Given the description of an element on the screen output the (x, y) to click on. 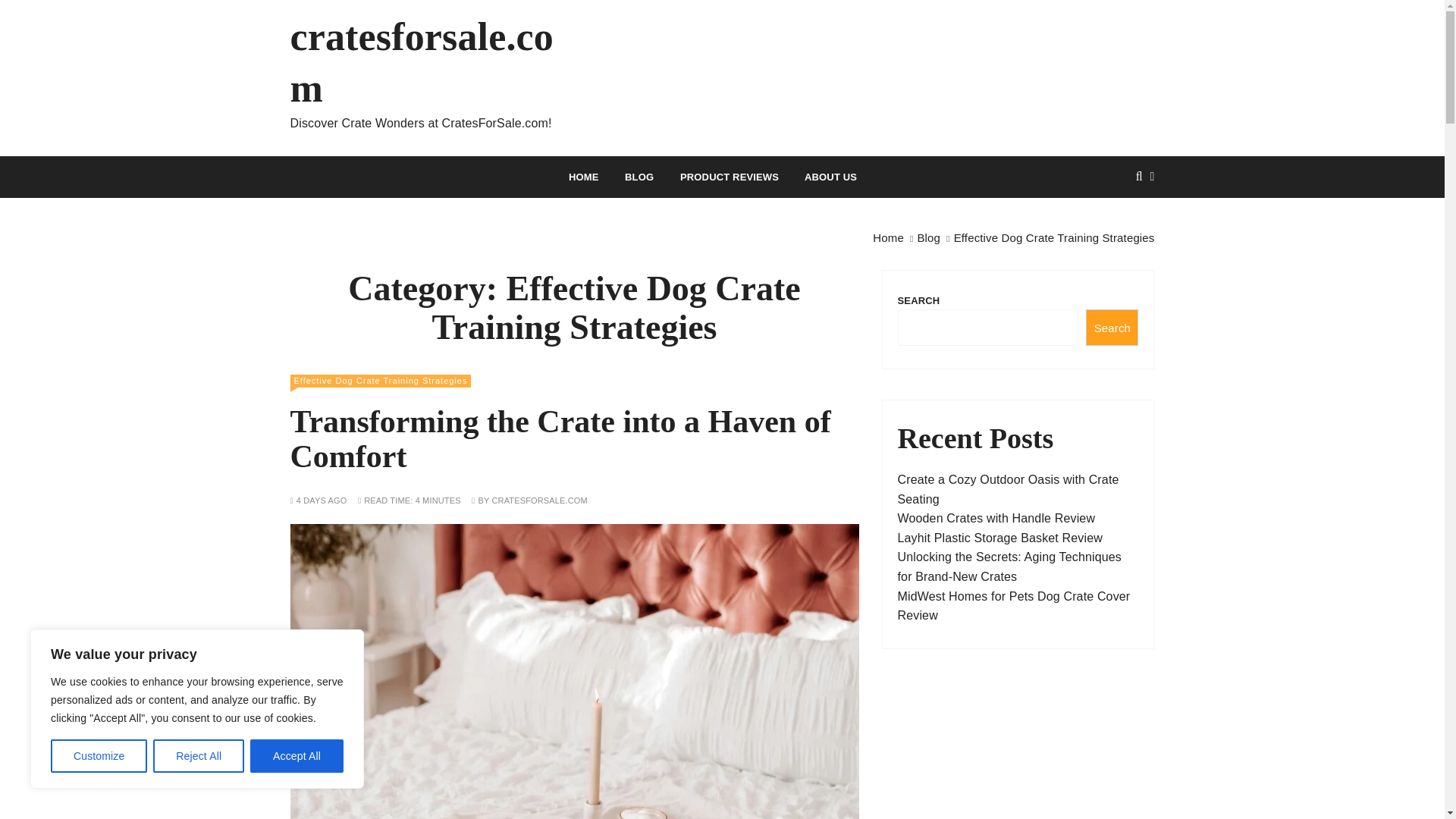
Customize (98, 756)
CRATESFORSALE.COM (539, 500)
Reject All (198, 756)
PRODUCT REVIEWS (729, 177)
Home (888, 237)
BLOG (638, 177)
Accept All (296, 756)
HOME (583, 177)
cratesforsale.com (425, 62)
Transforming the Crate into a Haven of Comfort (559, 439)
Blog (928, 237)
ABOUT US (830, 177)
Effective Dog Crate Training Strategies (1053, 237)
Effective Dog Crate Training Strategies (379, 380)
